Given the description of an element on the screen output the (x, y) to click on. 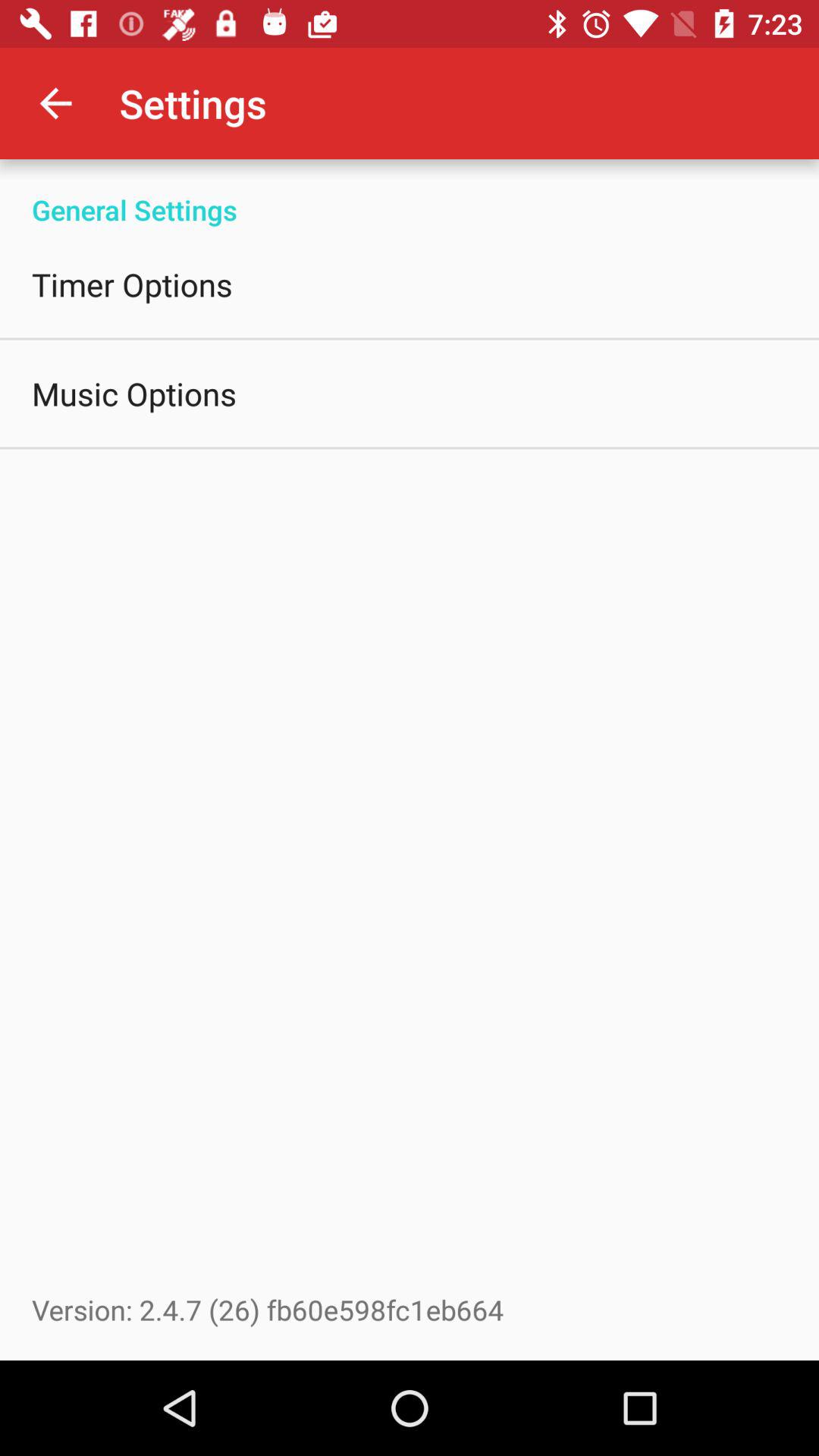
launch the item above the music options item (131, 283)
